Given the description of an element on the screen output the (x, y) to click on. 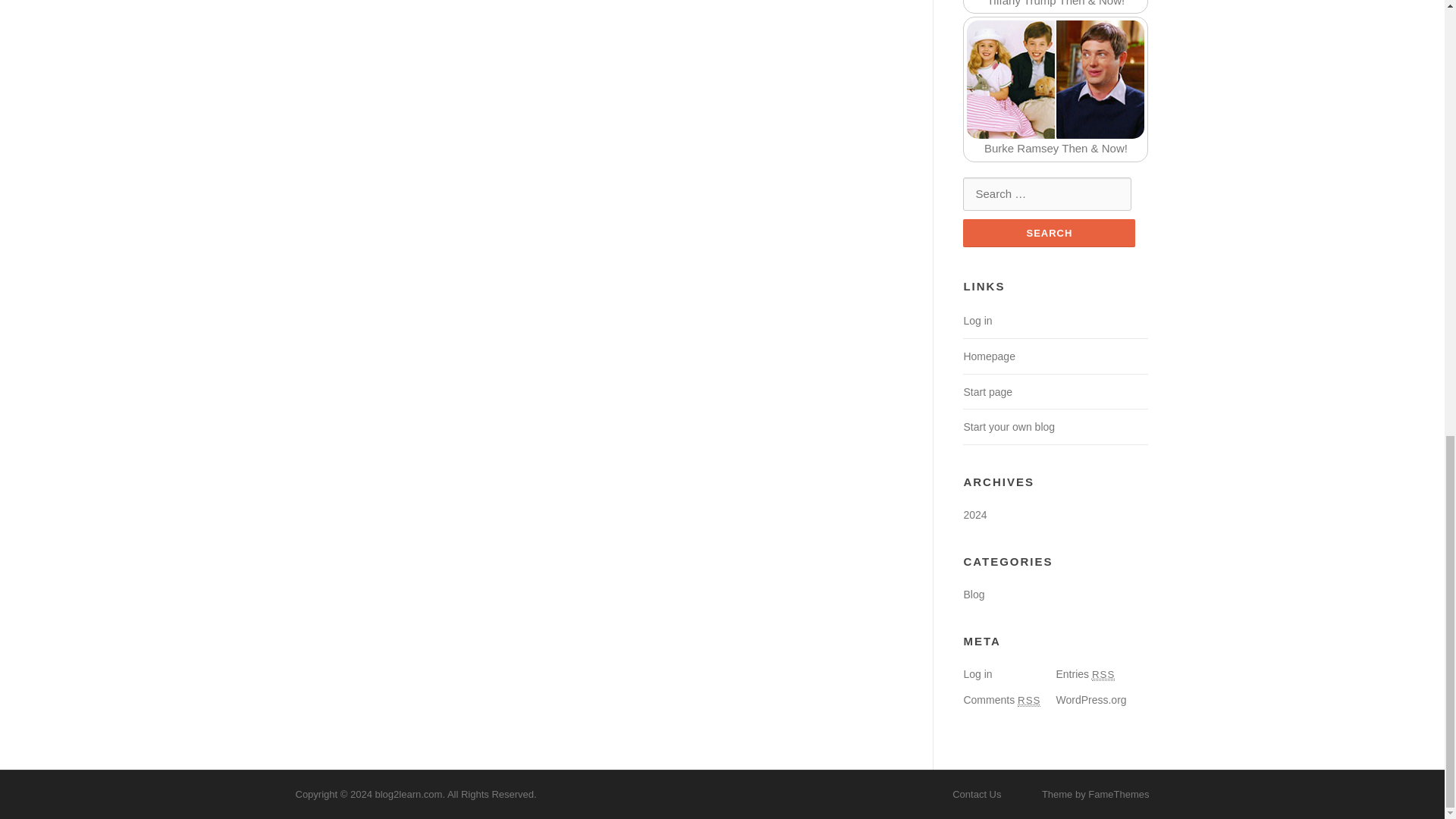
blog2learn.com (408, 794)
Search (1048, 233)
Log in (976, 320)
Search (1048, 233)
Search (1048, 233)
Log in (976, 674)
Really Simple Syndication (1029, 700)
Really Simple Syndication (1103, 674)
2024 (974, 514)
Comments RSS (1001, 699)
Entries RSS (1085, 674)
Blog (973, 594)
Start your own blog (1008, 426)
Homepage (988, 356)
